Given the description of an element on the screen output the (x, y) to click on. 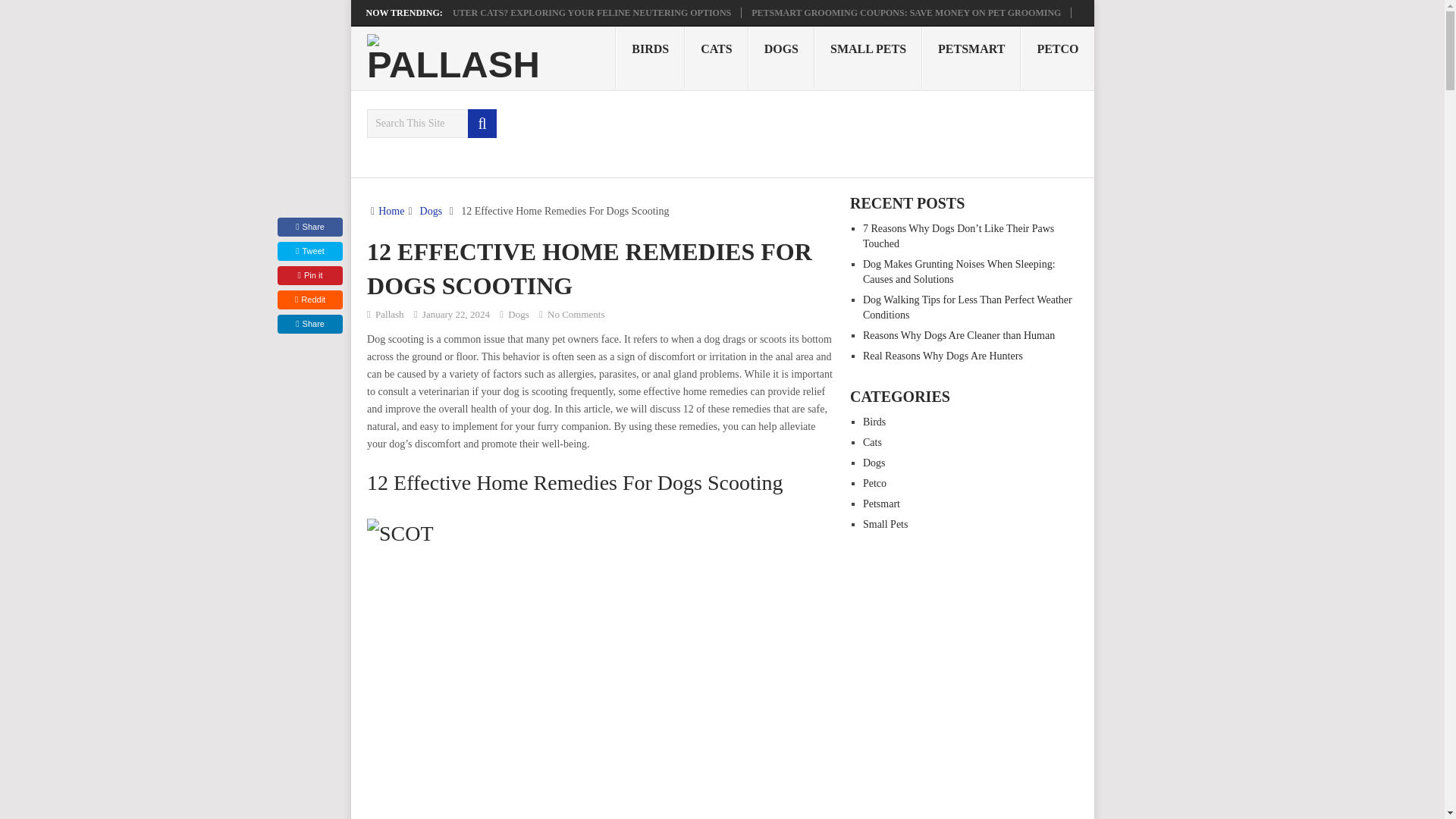
Dogs (518, 314)
No Comments (575, 314)
PETSMART (970, 57)
Dogs (431, 211)
Posts by Pallash (389, 314)
Pin it (310, 275)
Tweet (310, 251)
Share (310, 226)
Pallash (389, 314)
BIRDS (649, 57)
SMALL PETS (867, 57)
Share (310, 323)
